Given the description of an element on the screen output the (x, y) to click on. 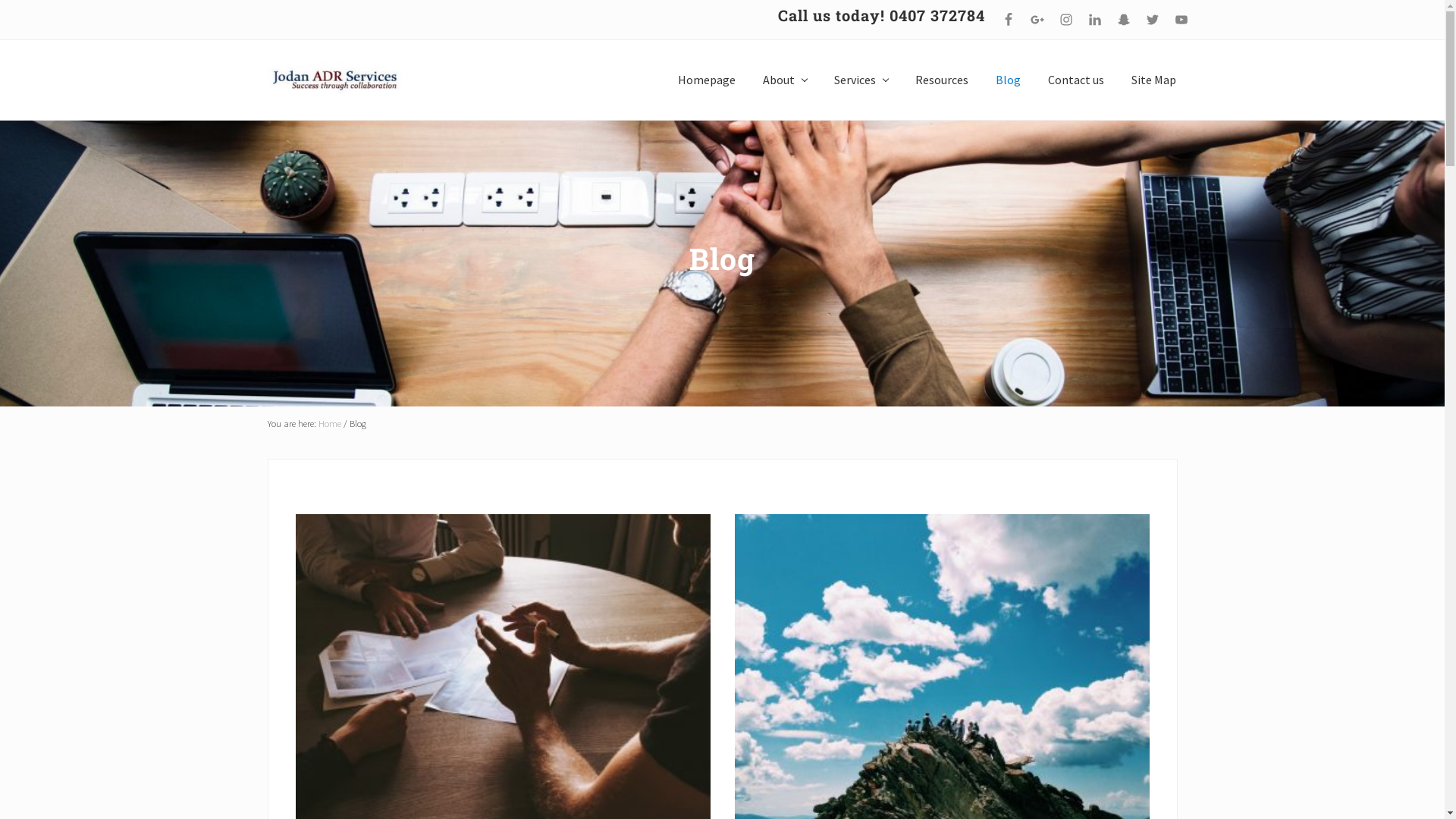
LinkedIn Element type: text (1093, 19)
Facebook Element type: text (1007, 19)
Blog Element type: text (1007, 79)
About Element type: text (784, 79)
Skip to right header navigation Element type: text (0, 0)
YouTube Element type: text (1180, 19)
Site Map Element type: text (1153, 79)
Google+ Element type: text (1036, 19)
Homepage Element type: text (706, 79)
Home Element type: text (329, 423)
Snapchat Element type: text (1122, 19)
Instagram Element type: text (1065, 19)
Services Element type: text (861, 79)
Contact us Element type: text (1075, 79)
Resources Element type: text (940, 79)
Twitter Element type: text (1151, 19)
